Given the description of an element on the screen output the (x, y) to click on. 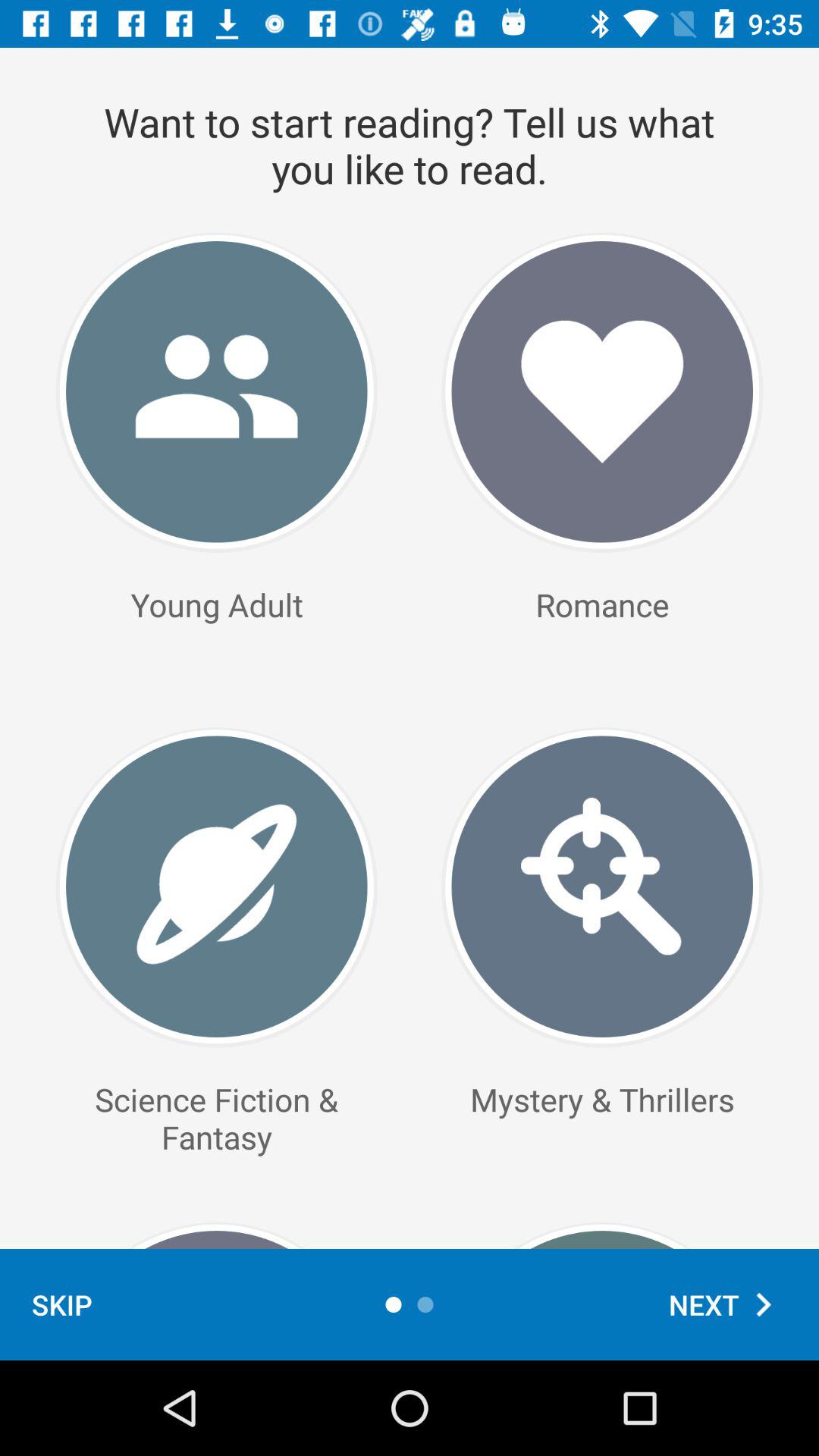
jump to skip icon (61, 1304)
